Given the description of an element on the screen output the (x, y) to click on. 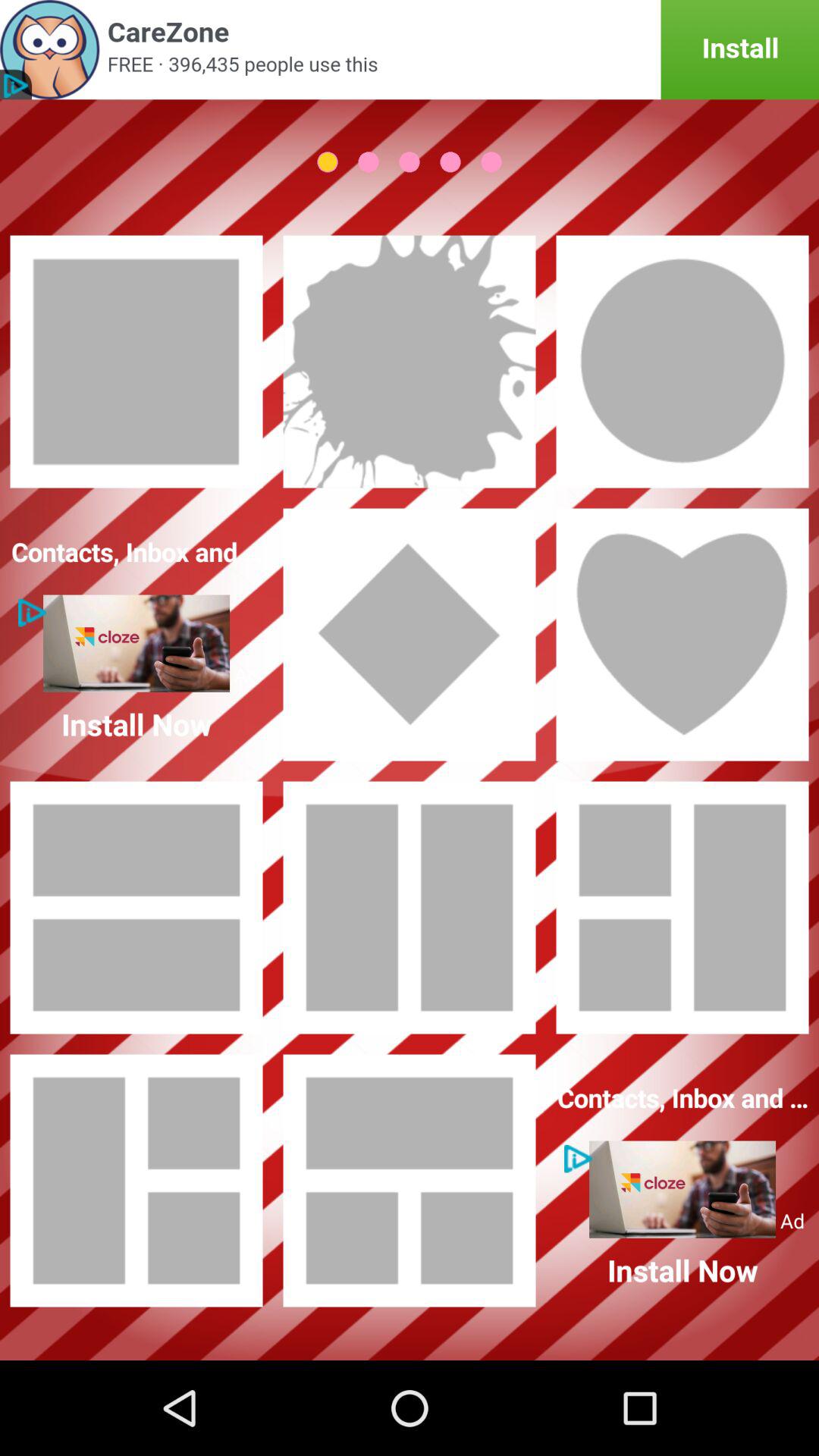
select this layout (136, 907)
